Given the description of an element on the screen output the (x, y) to click on. 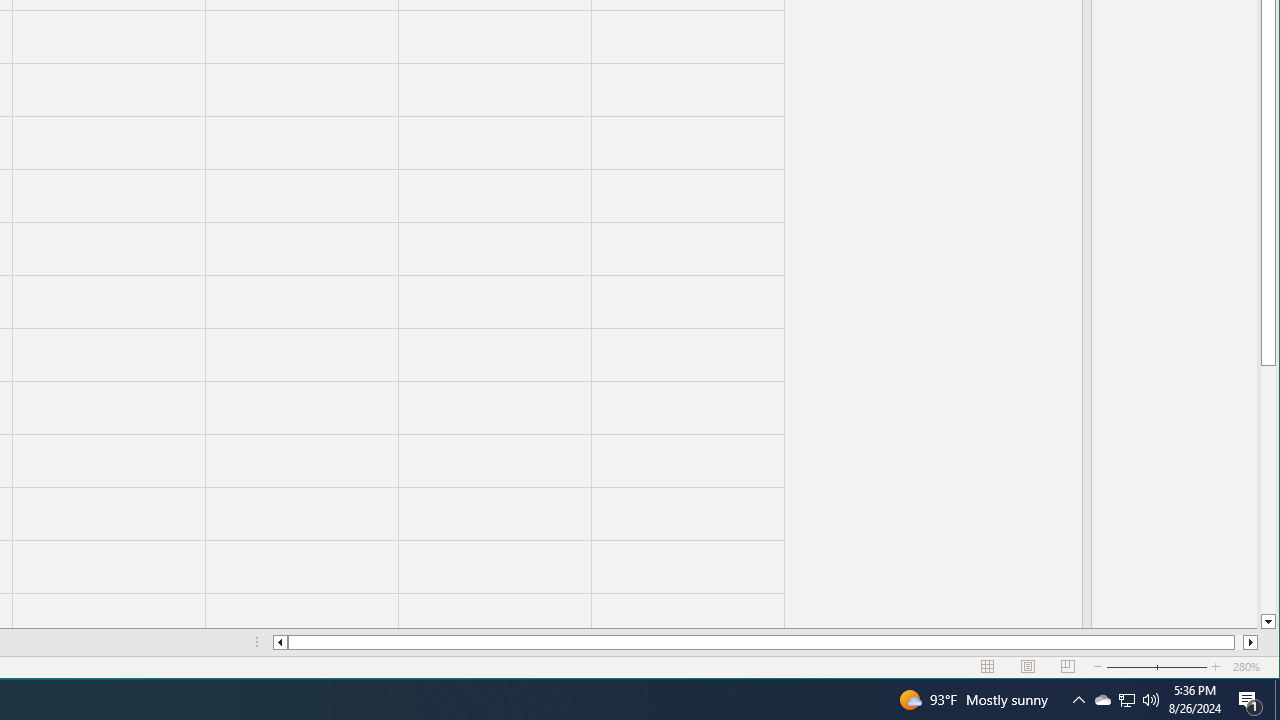
Action Center, 1 new notification (1250, 699)
